Given the description of an element on the screen output the (x, y) to click on. 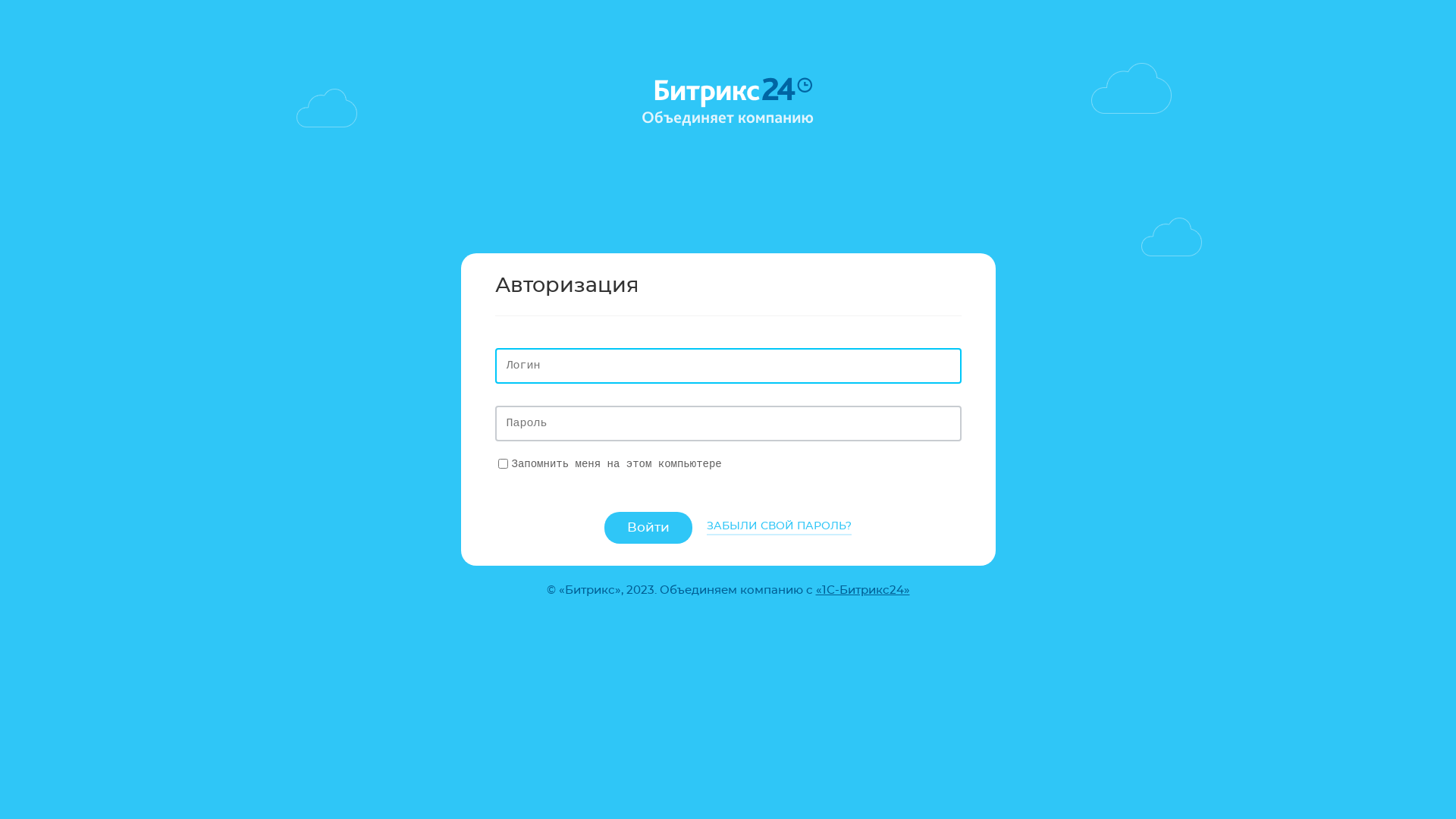
Bitrix24 Element type: hover (727, 101)
